Given the description of an element on the screen output the (x, y) to click on. 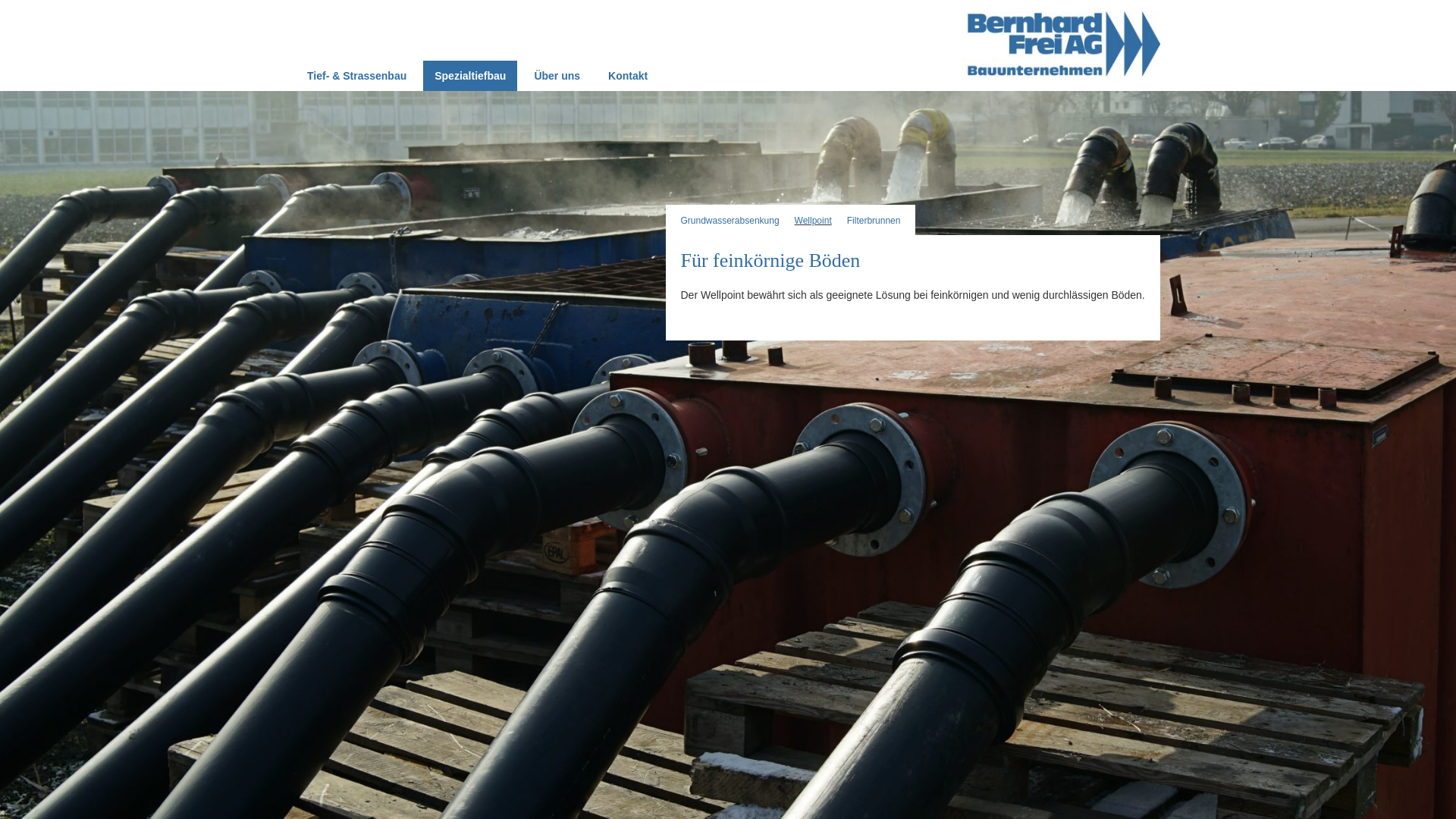
Spezialtiefbau Element type: text (470, 75)
Kontakt Element type: text (627, 75)
Filterbrunnen Element type: text (873, 220)
Tief- & Strassenbau Element type: text (356, 75)
Wellpoint Element type: text (812, 220)
Grundwasserabsenkung Element type: text (729, 220)
